Given the description of an element on the screen output the (x, y) to click on. 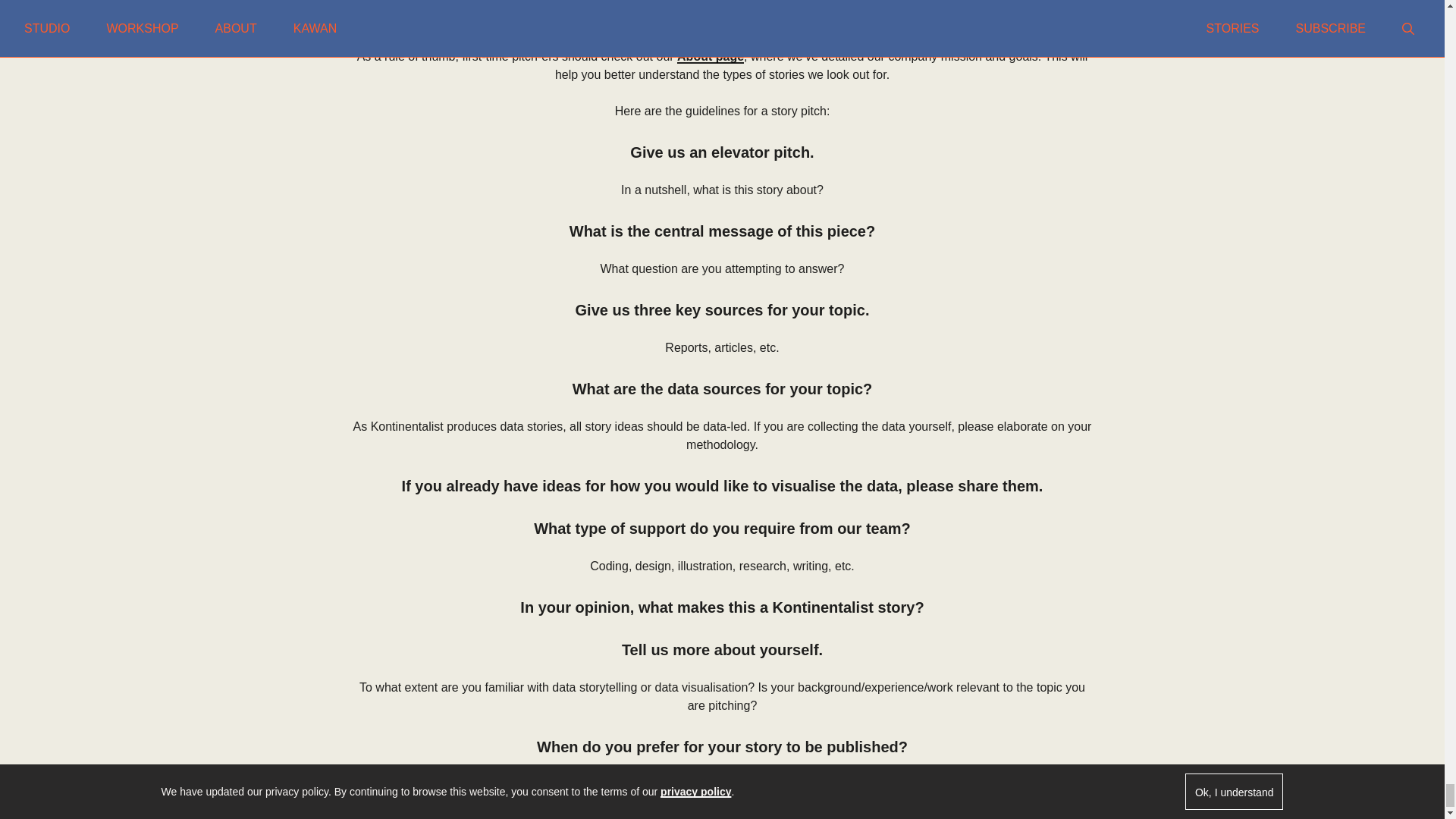
About page (710, 57)
